Given the description of an element on the screen output the (x, y) to click on. 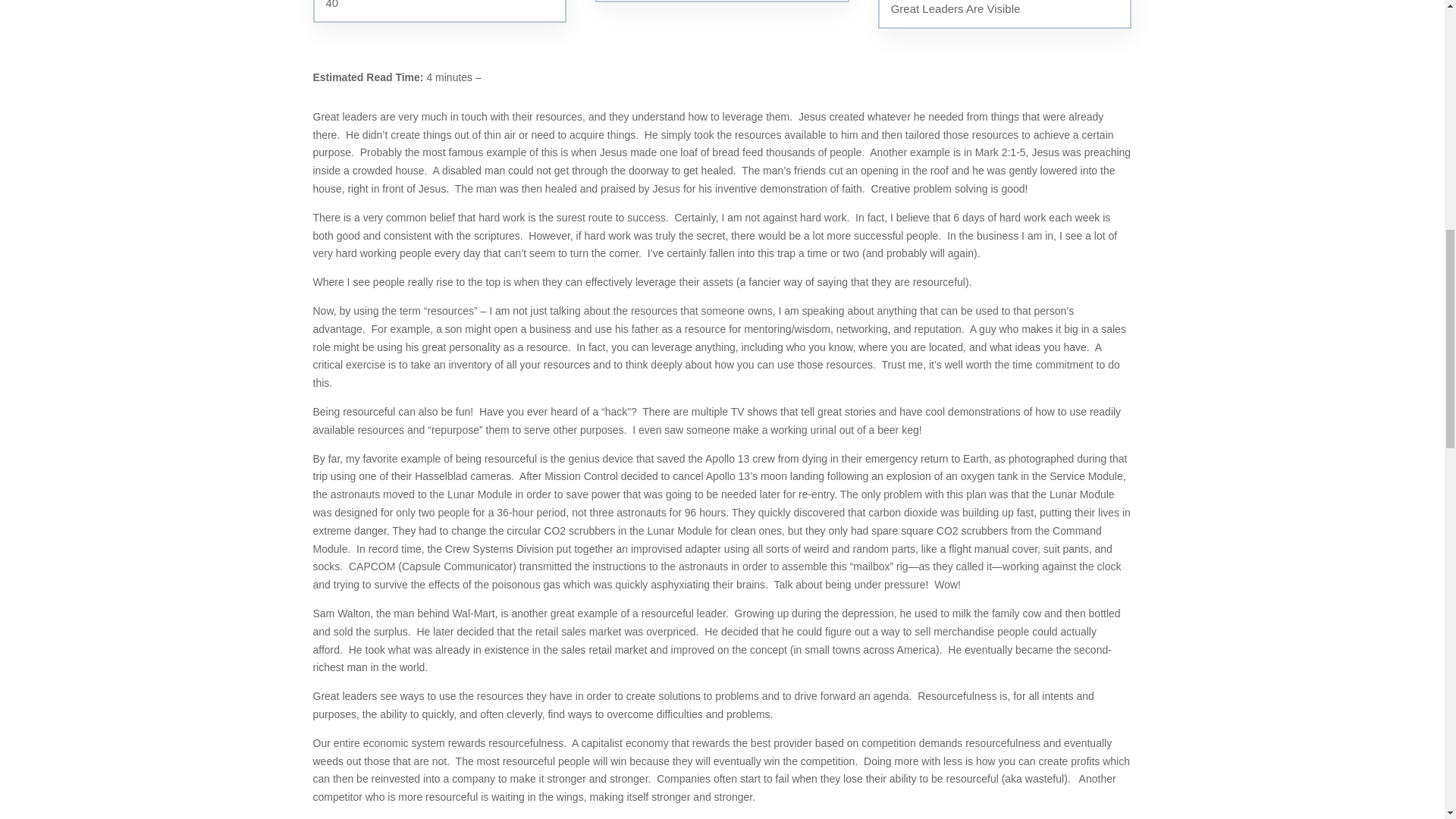
Great Leaders are Compassionate - Week 40 (439, 11)
Great Leaders Are Visible (1004, 14)
